Given the description of an element on the screen output the (x, y) to click on. 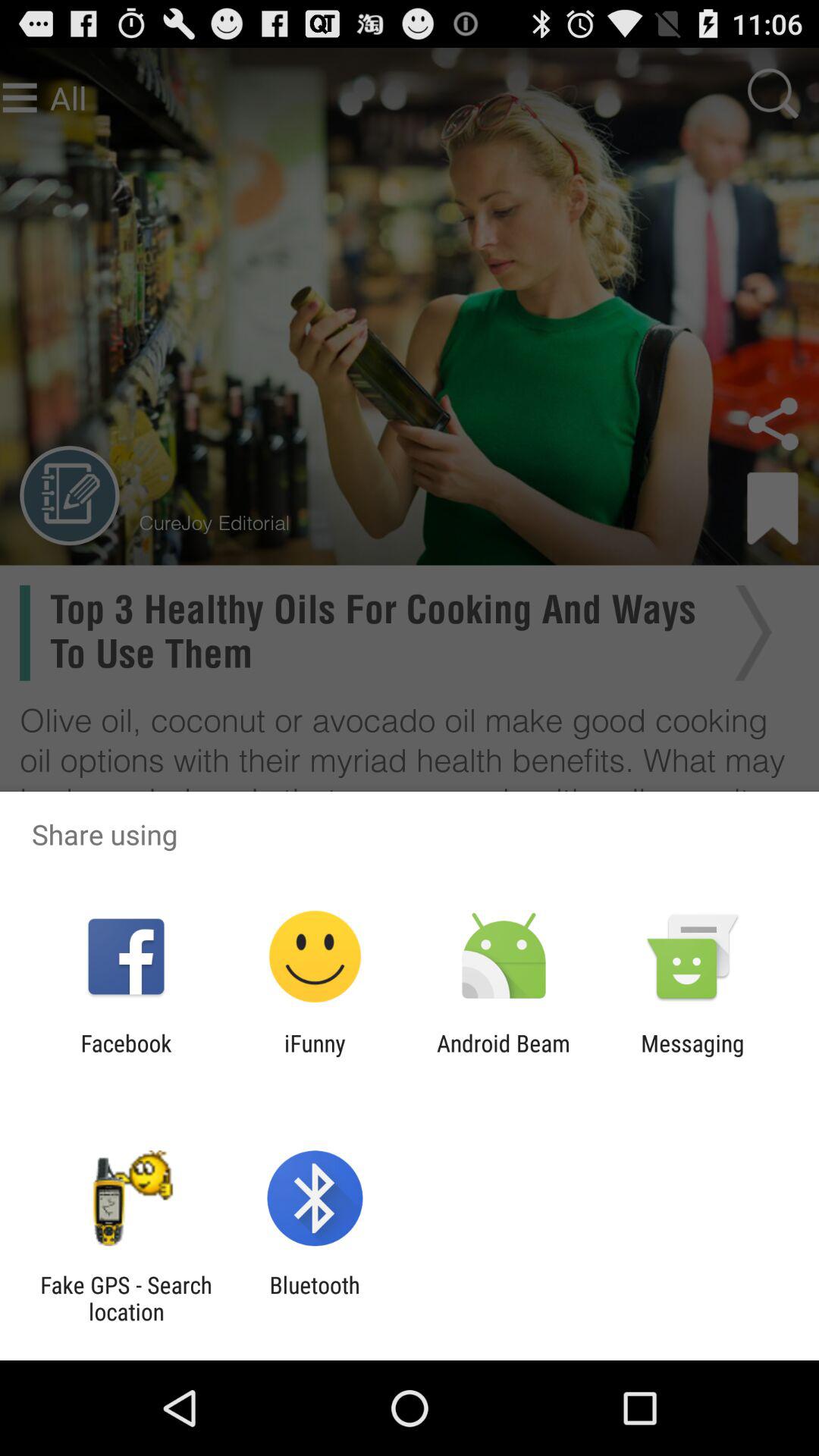
choose the facebook item (125, 1056)
